Given the description of an element on the screen output the (x, y) to click on. 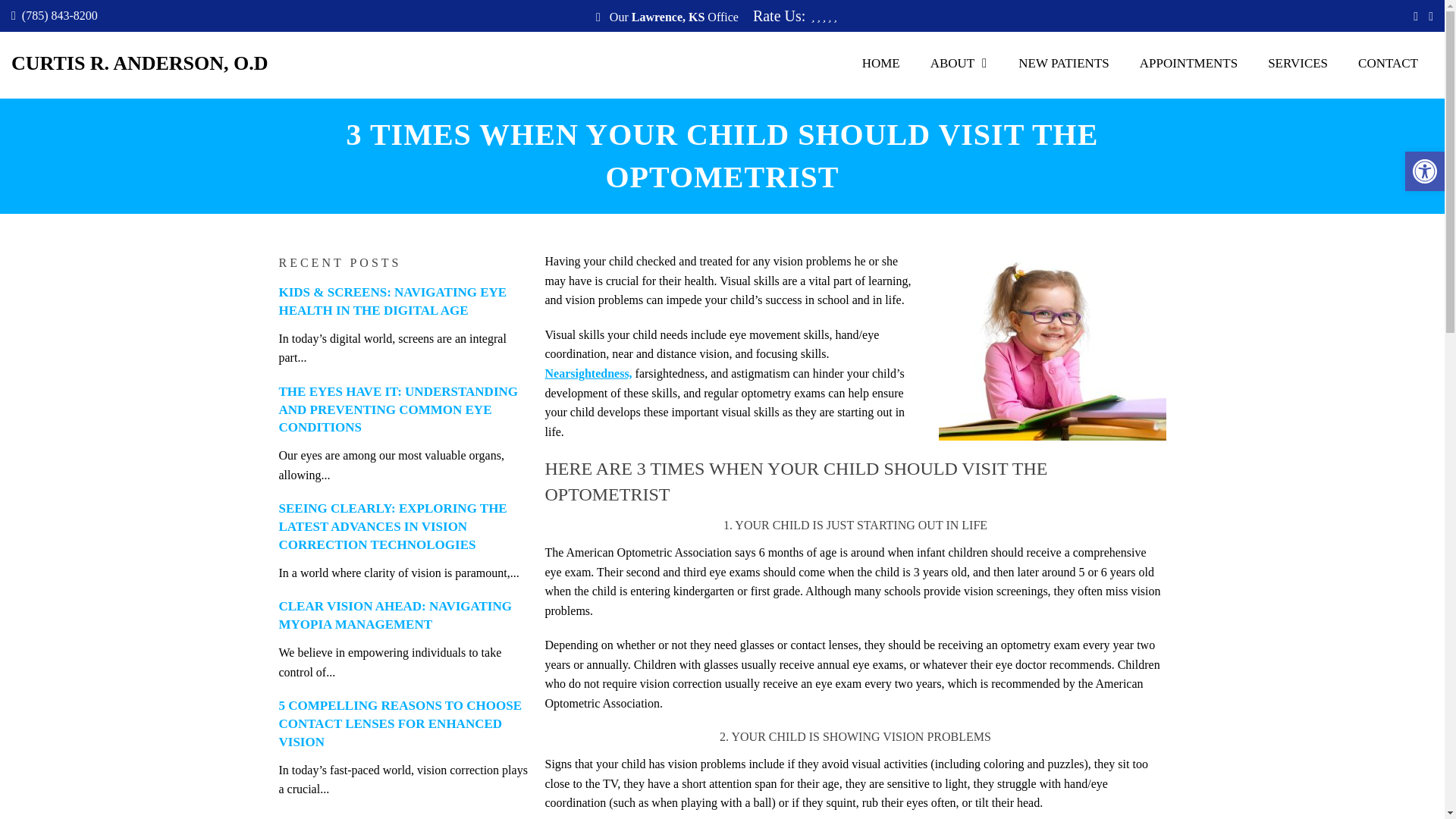
HOME (881, 63)
SERVICES (1297, 63)
ABOUT (959, 63)
CURTIS R. ANDERSON, O.D (139, 63)
Accessibility Tools (1424, 170)
CLEAR VISION AHEAD: NAVIGATING MYOPIA MANAGEMENT (395, 614)
NEW PATIENTS (1063, 63)
APPOINTMENTS (1188, 63)
Nearsightedness, (587, 373)
CONTACT (1387, 63)
Our Lawrence, KS Office (672, 16)
